Given the description of an element on the screen output the (x, y) to click on. 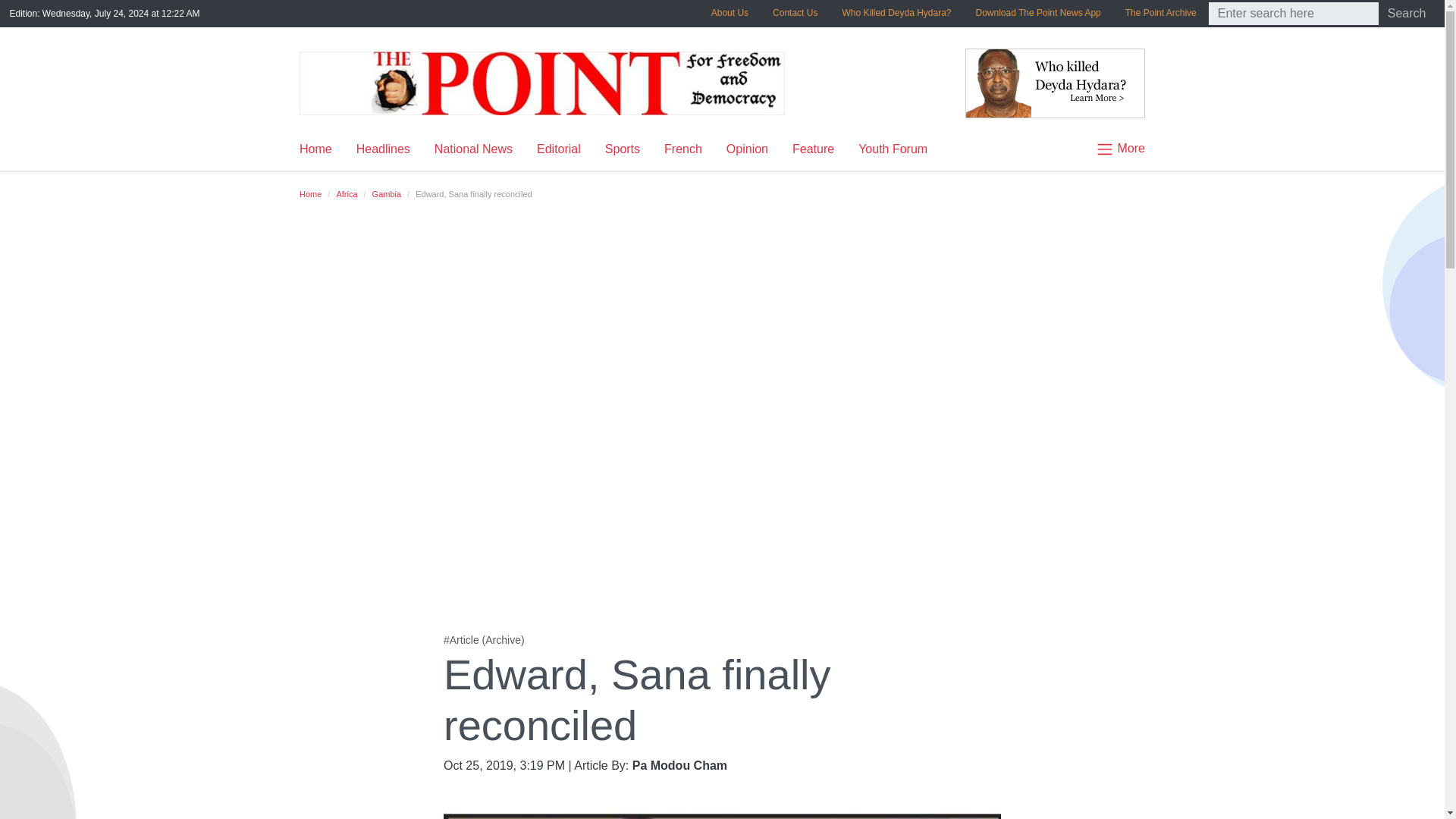
Who Killed Deyda Hydara? (895, 12)
Opinion (747, 149)
More (1113, 148)
Africa (346, 194)
Home (321, 149)
Gambia (386, 194)
Search (1406, 13)
French (683, 149)
National News (473, 149)
Home (310, 194)
Sports (622, 149)
Feature (812, 149)
Contact Us (794, 12)
The Point Archive (1160, 12)
